Given the description of an element on the screen output the (x, y) to click on. 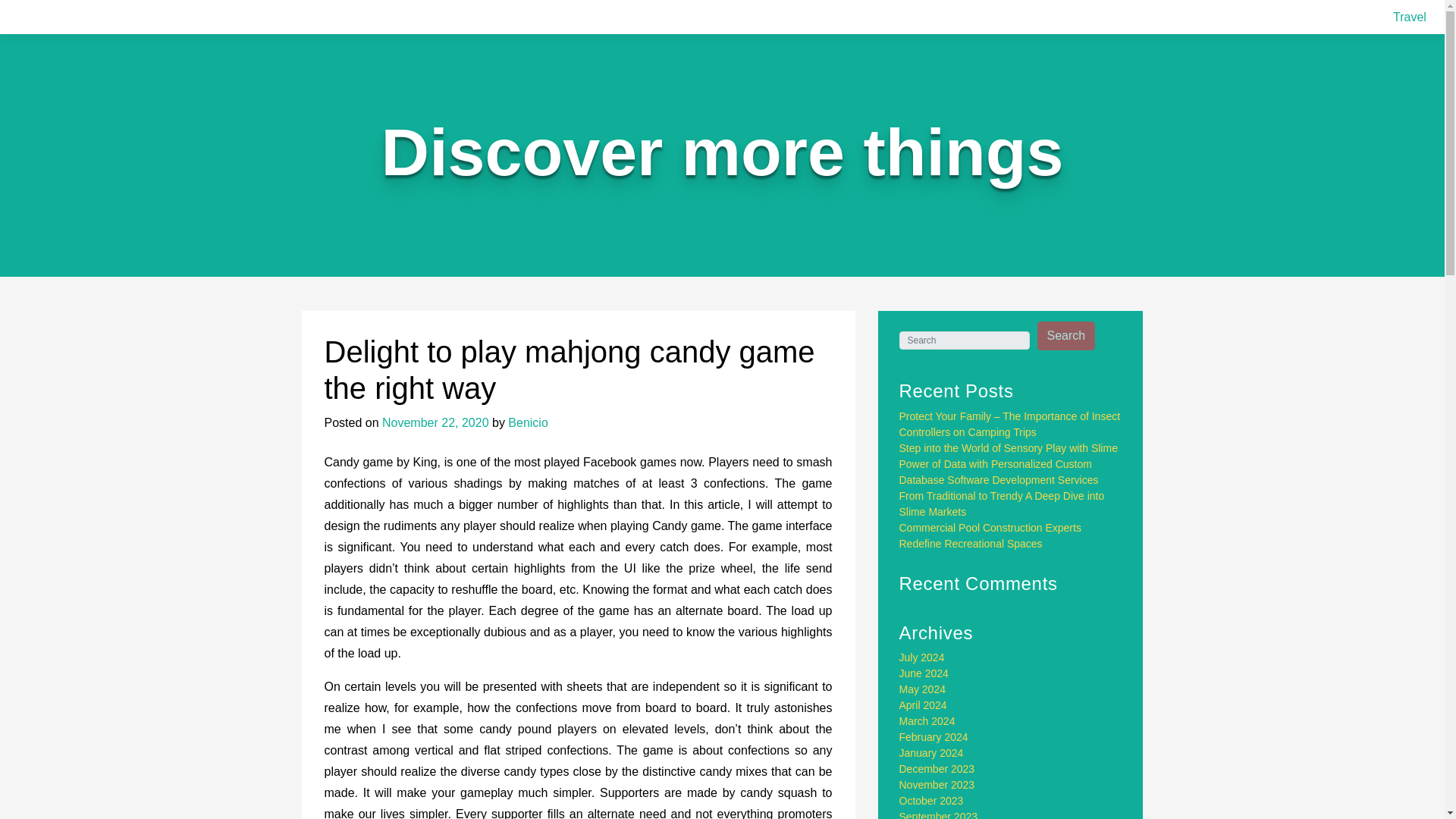
Search (1066, 335)
Travel (1409, 16)
February 2024 (933, 736)
September 2023 (938, 814)
Step into the World of Sensory Play with Slime (1008, 448)
November 2023 (937, 784)
Travel (1409, 16)
November 22, 2020 (435, 422)
April 2024 (923, 705)
